Given the description of an element on the screen output the (x, y) to click on. 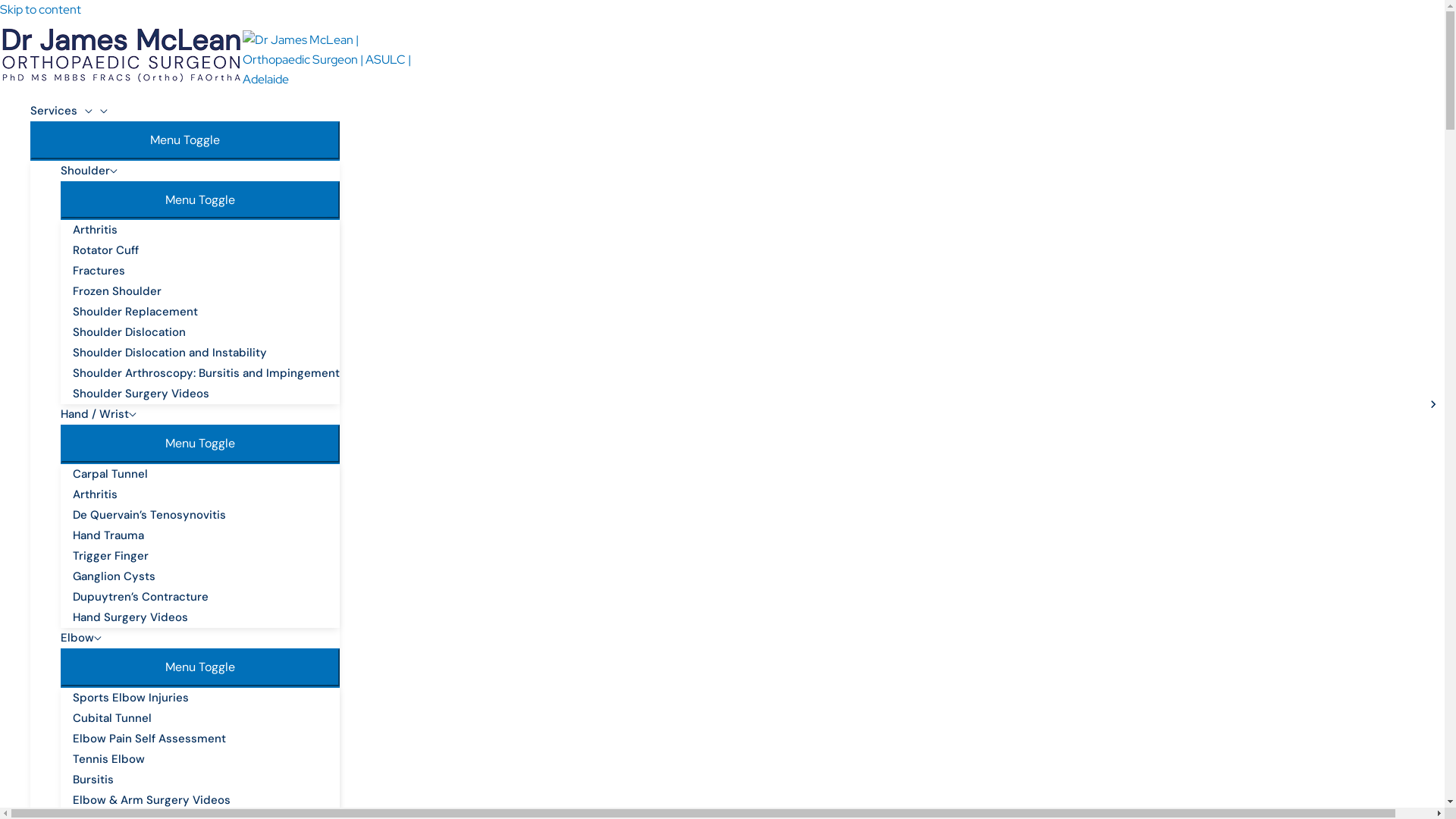
Menu Toggle Element type: text (199, 443)
Ganglion Cysts Element type: text (205, 576)
Shoulder Dislocation Element type: text (205, 332)
Carpal Tunnel Element type: text (205, 474)
Shoulder Dislocation and Instability Element type: text (205, 352)
Shoulder Replacement Element type: text (205, 311)
Hand / Wrist Element type: text (199, 414)
Cubital Tunnel Element type: text (205, 718)
Rotator Cuff Element type: text (205, 250)
Tennis Elbow Element type: text (205, 759)
Fractures Element type: text (205, 270)
Skip to content Element type: text (40, 9)
Hand Trauma Element type: text (205, 535)
Services Element type: text (184, 110)
Trigger Finger Element type: text (205, 556)
Bursitis Element type: text (205, 779)
Hand Surgery Videos Element type: text (205, 617)
Menu Toggle Element type: text (184, 140)
Sports Elbow Injuries Element type: text (205, 697)
Elbow Pain Self Assessment Element type: text (205, 738)
Menu Toggle Element type: text (199, 667)
Frozen Shoulder Element type: text (205, 291)
Shoulder Arthroscopy: Bursitis and Impingement Element type: text (205, 373)
Arthritis Element type: text (205, 229)
Menu Toggle Element type: text (199, 200)
Shoulder Element type: text (199, 170)
Elbow Element type: text (199, 637)
Arthritis Element type: text (205, 494)
Shoulder Surgery Videos Element type: text (205, 393)
Elbow & Arm Surgery Videos Element type: text (205, 800)
